Given the description of an element on the screen output the (x, y) to click on. 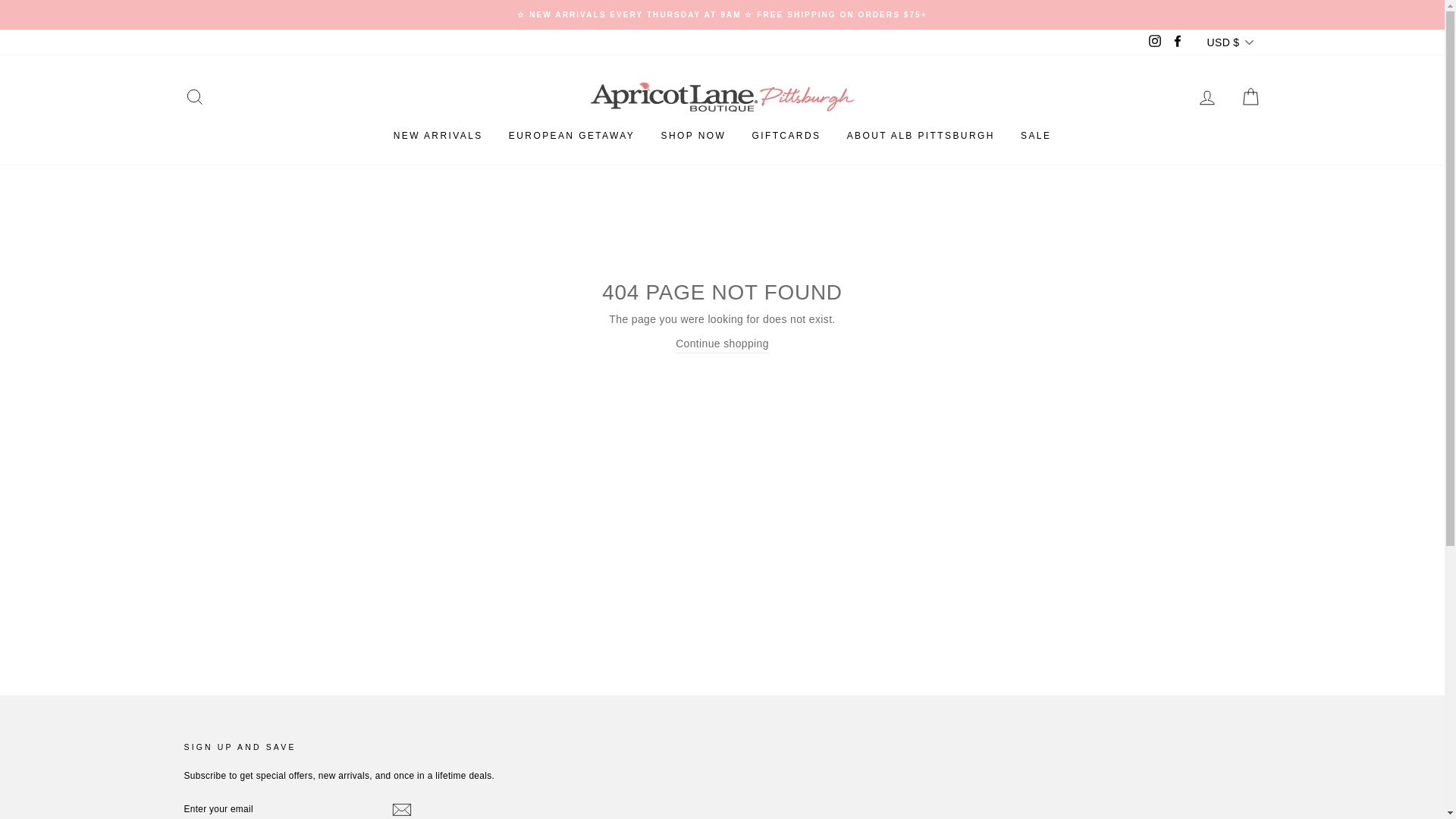
Instagram (1154, 42)
Apricot Lane Boutique - Pittsburgh on Facebook (1177, 42)
Facebook (1177, 42)
Apricot Lane Boutique - Pittsburgh on Instagram (1154, 42)
